Given the description of an element on the screen output the (x, y) to click on. 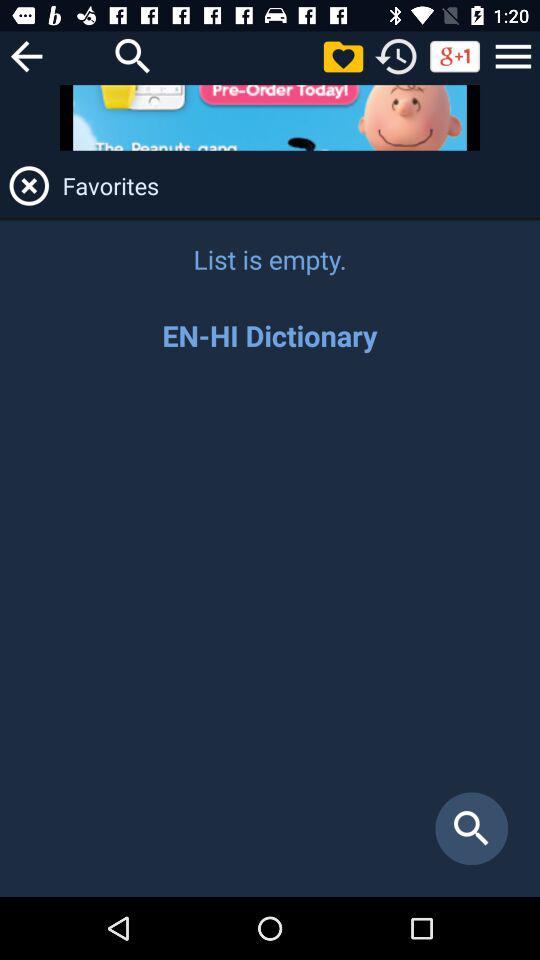
search (270, 635)
